Given the description of an element on the screen output the (x, y) to click on. 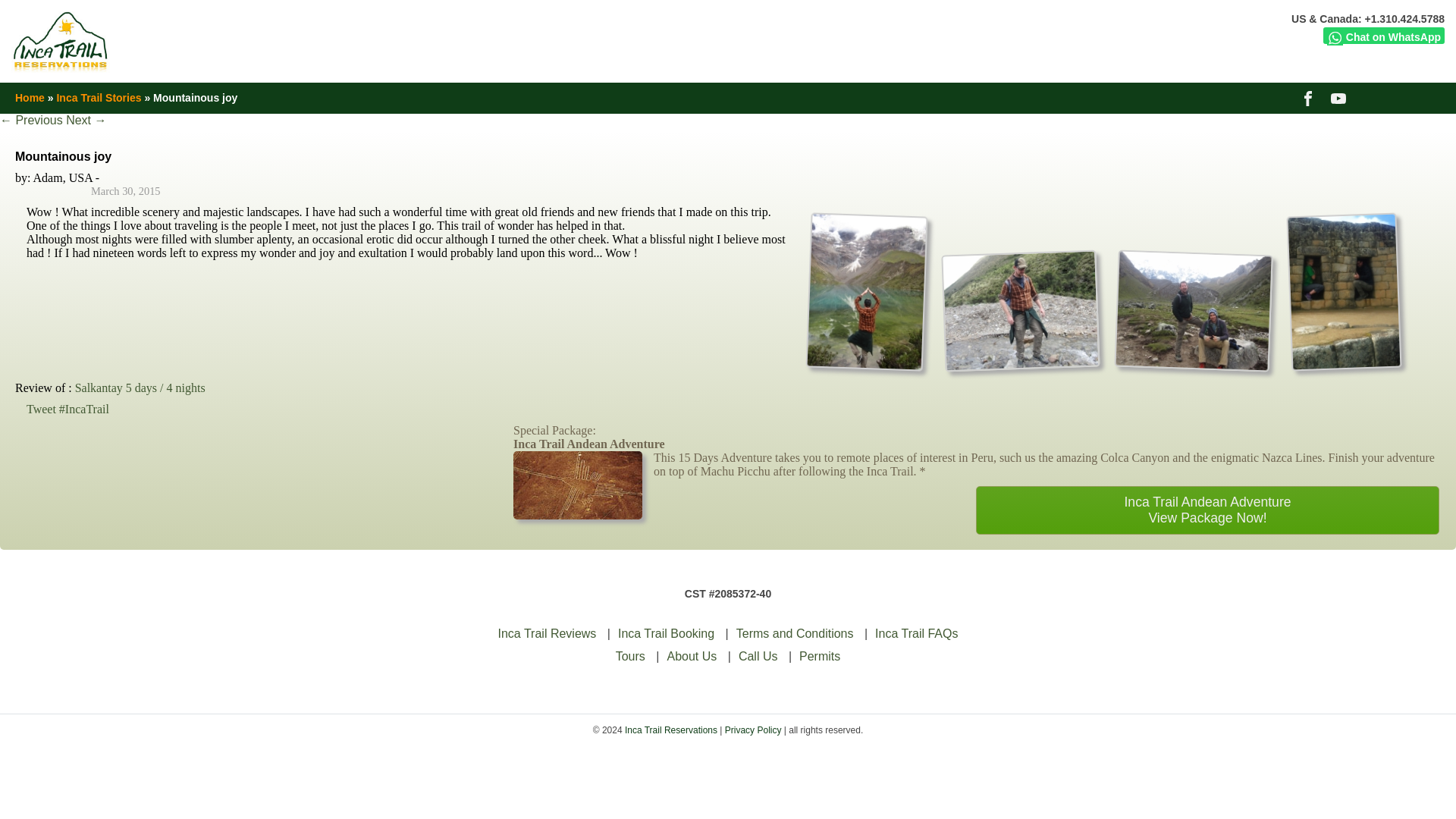
Adam Salkantay March 30 2015-2 (1190, 361)
youtube (1339, 97)
tripadvisor (1400, 97)
Adam Salkantay March 30 2015 (863, 362)
Adam Salkantay March 30 2015-3 (1345, 362)
Privacy Policy (753, 729)
Terms and Conditions (794, 633)
Call Us (757, 656)
Chat on WhatsApp (1383, 35)
instagram (1431, 97)
